Given the description of an element on the screen output the (x, y) to click on. 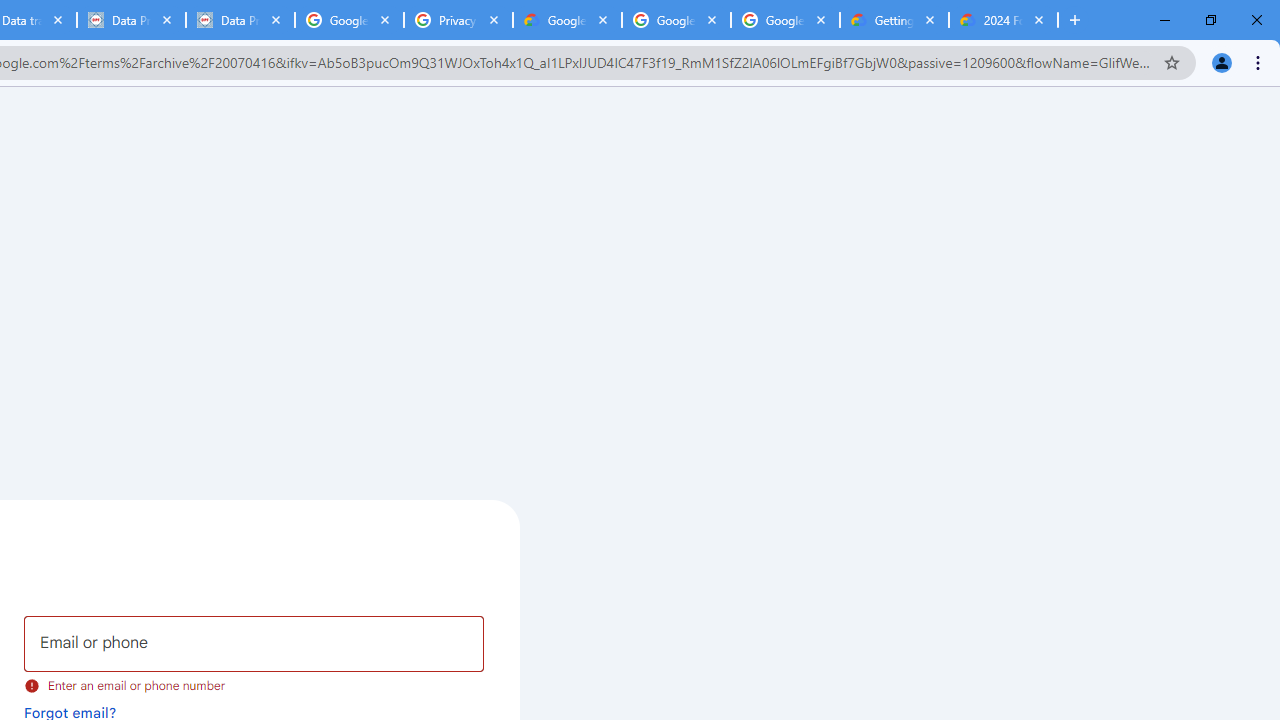
Google Cloud Terms Directory | Google Cloud (567, 20)
